Given the description of an element on the screen output the (x, y) to click on. 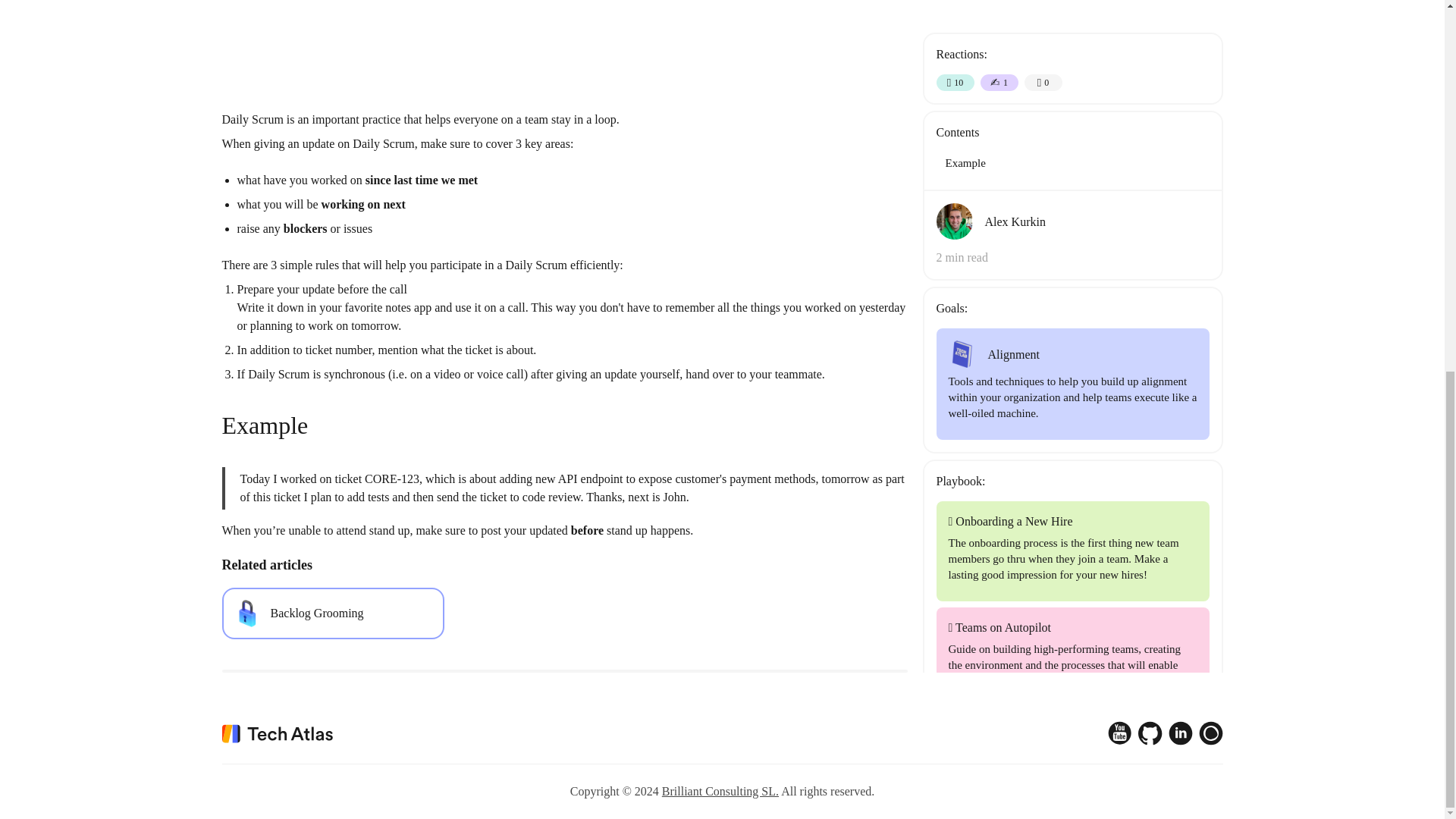
video (564, 53)
Brilliant Consulting SL. (720, 790)
